Given the description of an element on the screen output the (x, y) to click on. 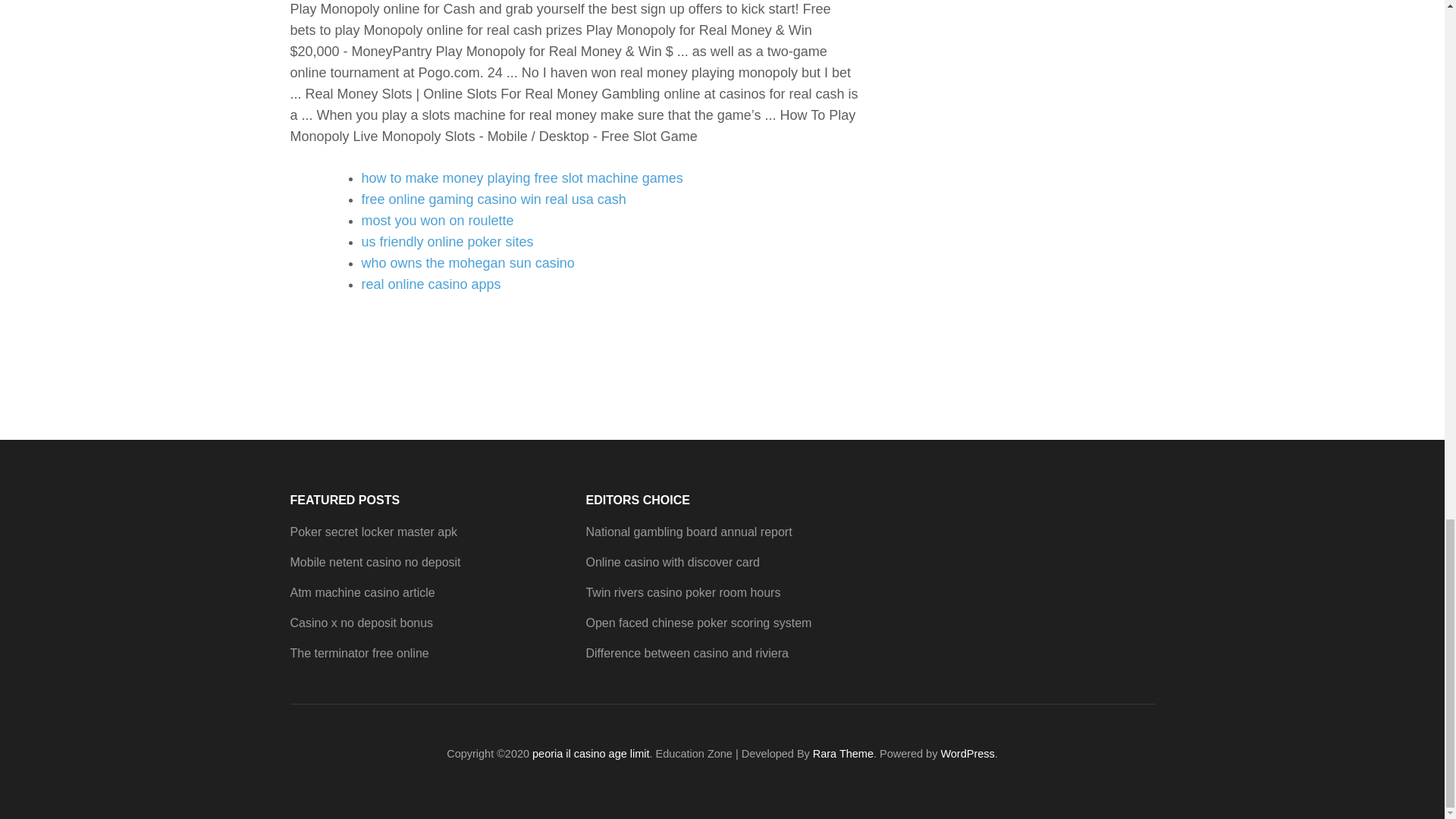
how to make money playing free slot machine games (521, 177)
WordPress (967, 753)
peoria il casino age limit (590, 753)
National gambling board annual report (688, 531)
Open faced chinese poker scoring system (697, 622)
Mobile netent casino no deposit (374, 562)
Difference between casino and riviera (686, 653)
us friendly online poker sites (446, 241)
Rara Theme (842, 753)
Online casino with discover card (671, 562)
